Given the description of an element on the screen output the (x, y) to click on. 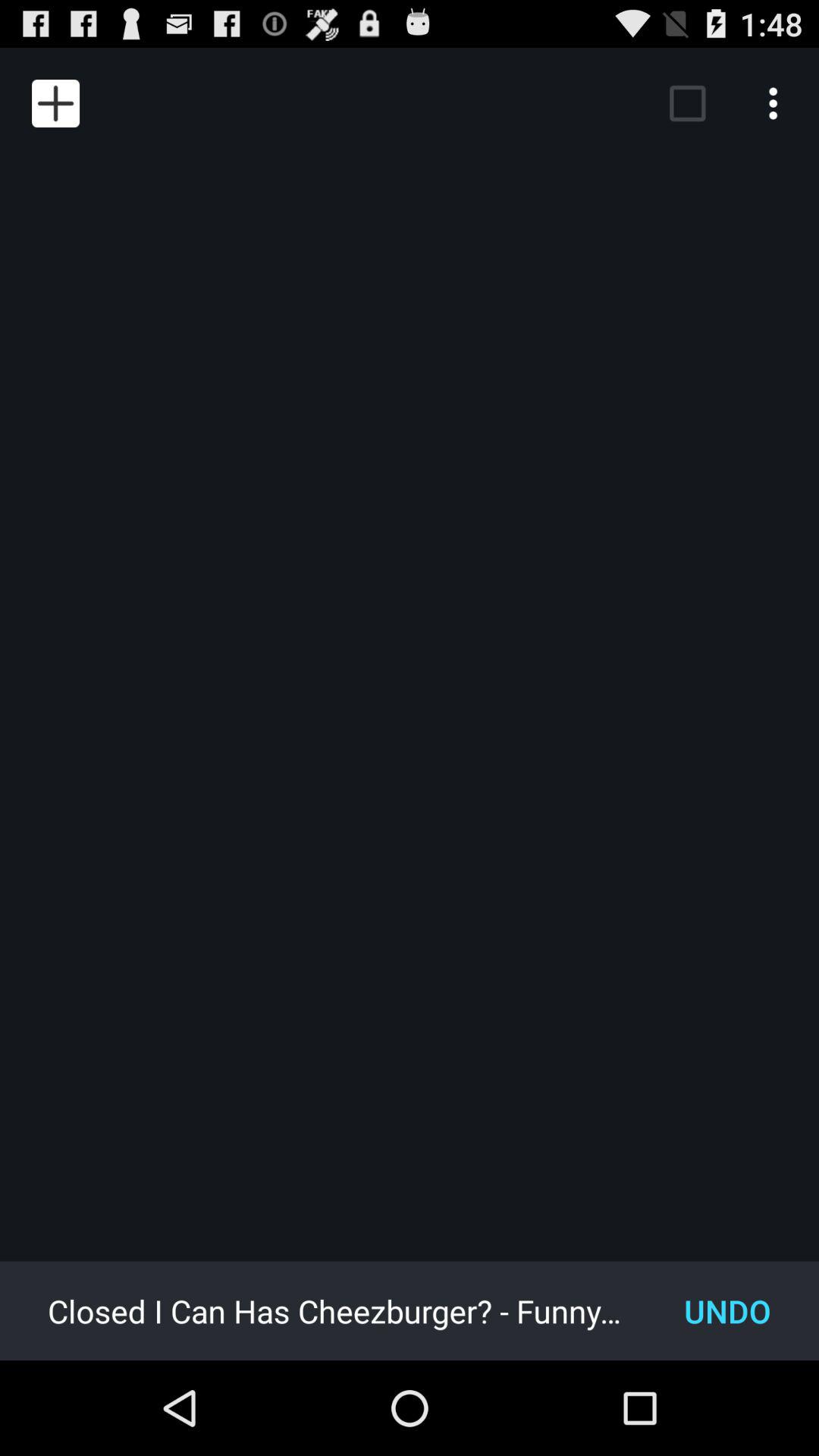
swipe until undo (727, 1310)
